Given the description of an element on the screen output the (x, y) to click on. 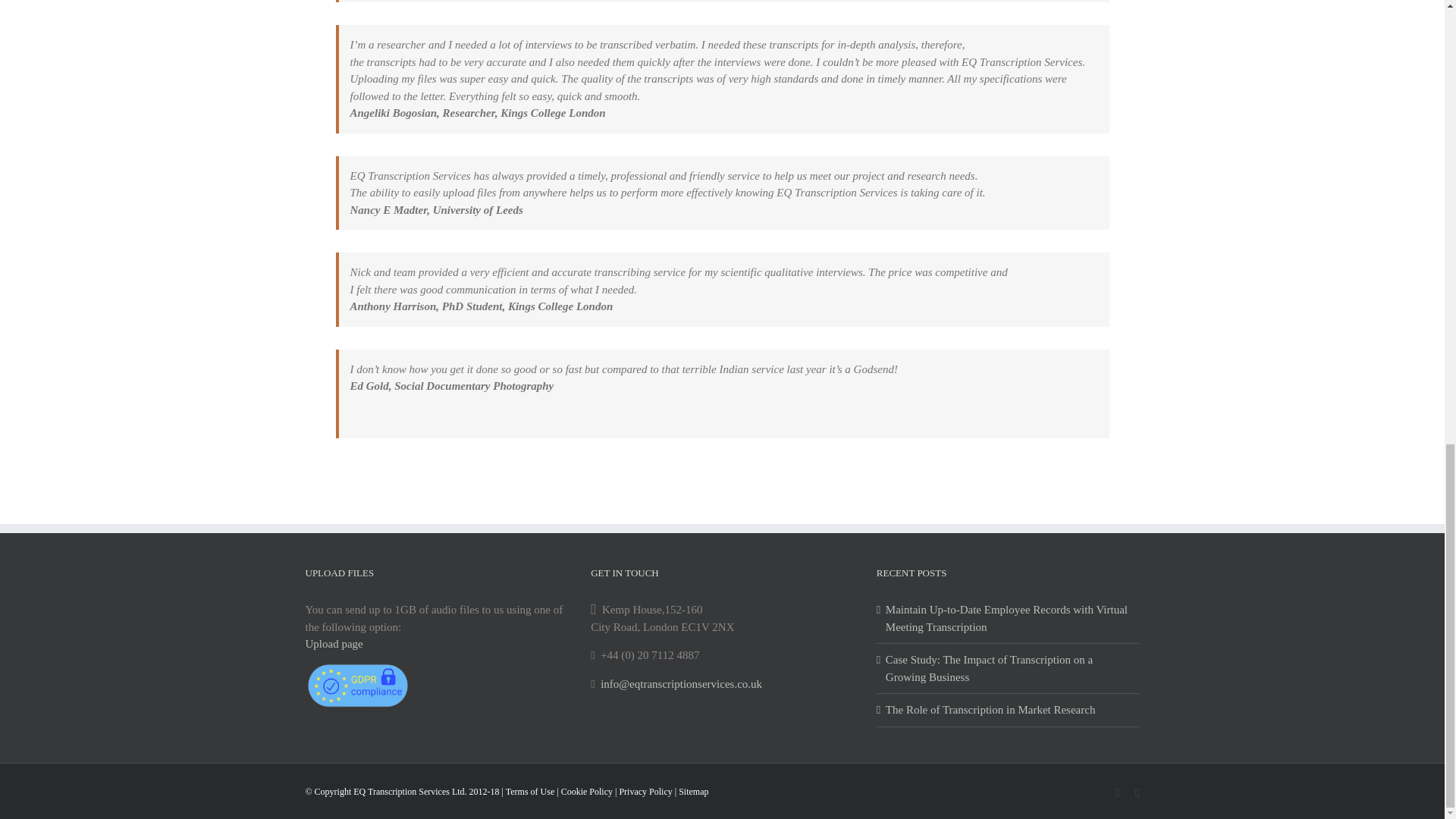
The Role of Transcription in Market Research (1008, 710)
Cookie Policy (586, 791)
Privacy Policy (644, 791)
Terms of Use (529, 791)
Upload page (333, 644)
Sitemap (692, 791)
